Given the description of an element on the screen output the (x, y) to click on. 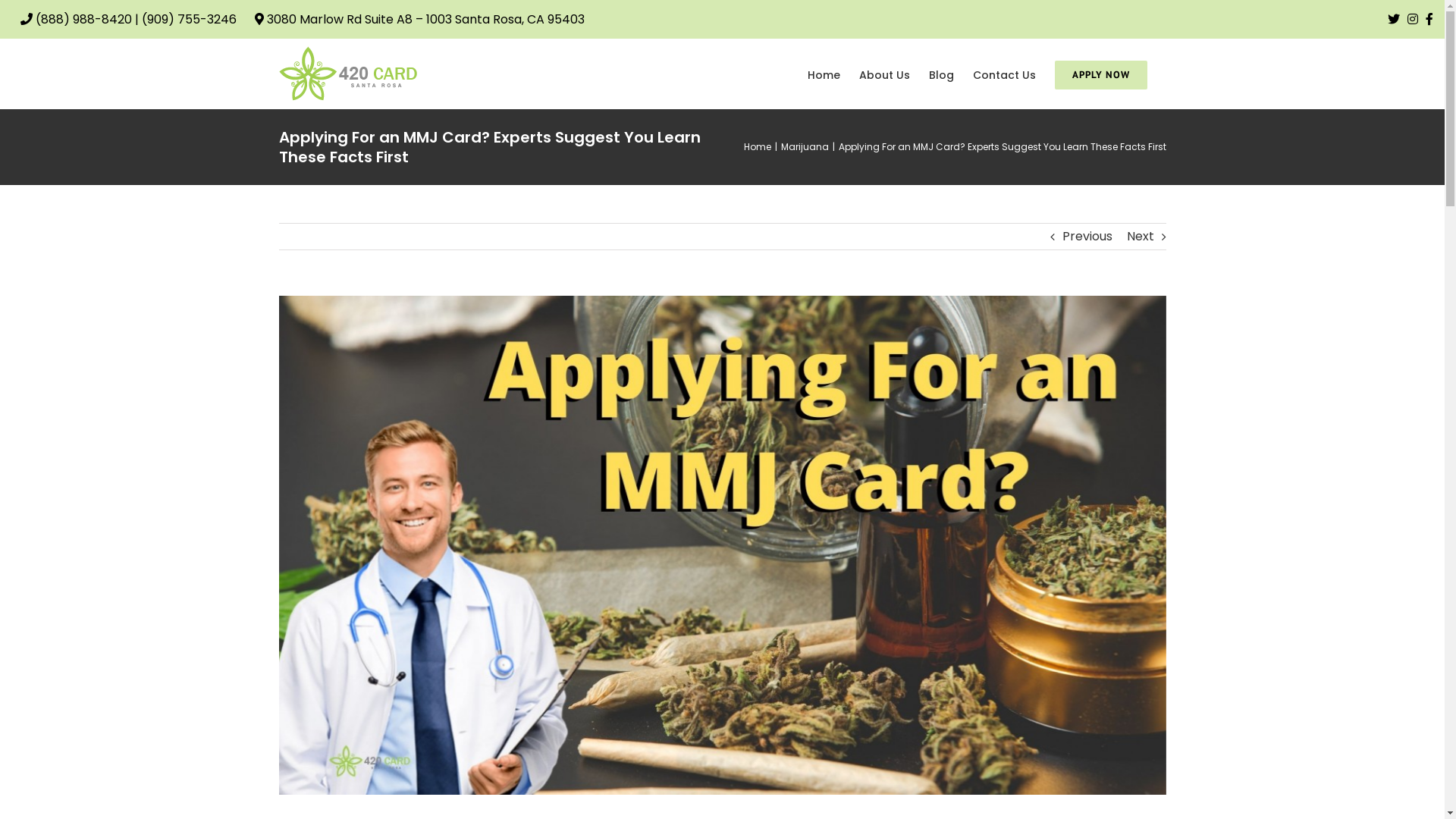
Next Element type: text (1140, 236)
(909) 755-3246 Element type: text (188, 19)
Home Element type: text (756, 146)
APPLY NOW Element type: text (1100, 73)
(888) 988-8420 Element type: text (84, 19)
View Larger Image Element type: text (722, 544)
Home Element type: text (822, 73)
Marijuana Element type: text (804, 146)
Blog Element type: text (940, 73)
Contact Us Element type: text (1003, 73)
Previous Element type: text (1086, 236)
About Us Element type: text (883, 73)
